Given the description of an element on the screen output the (x, y) to click on. 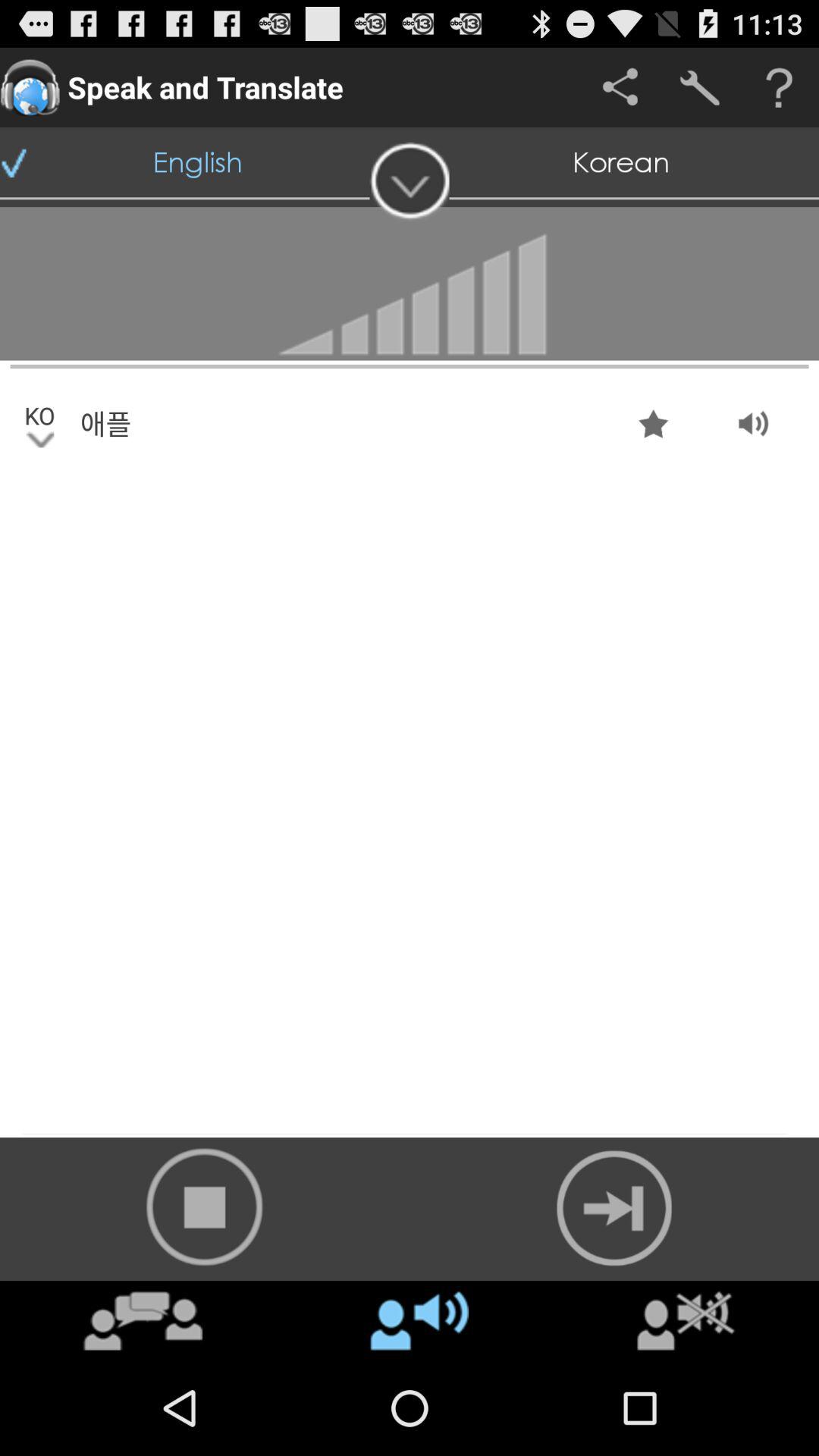
share this page (619, 87)
